Given the description of an element on the screen output the (x, y) to click on. 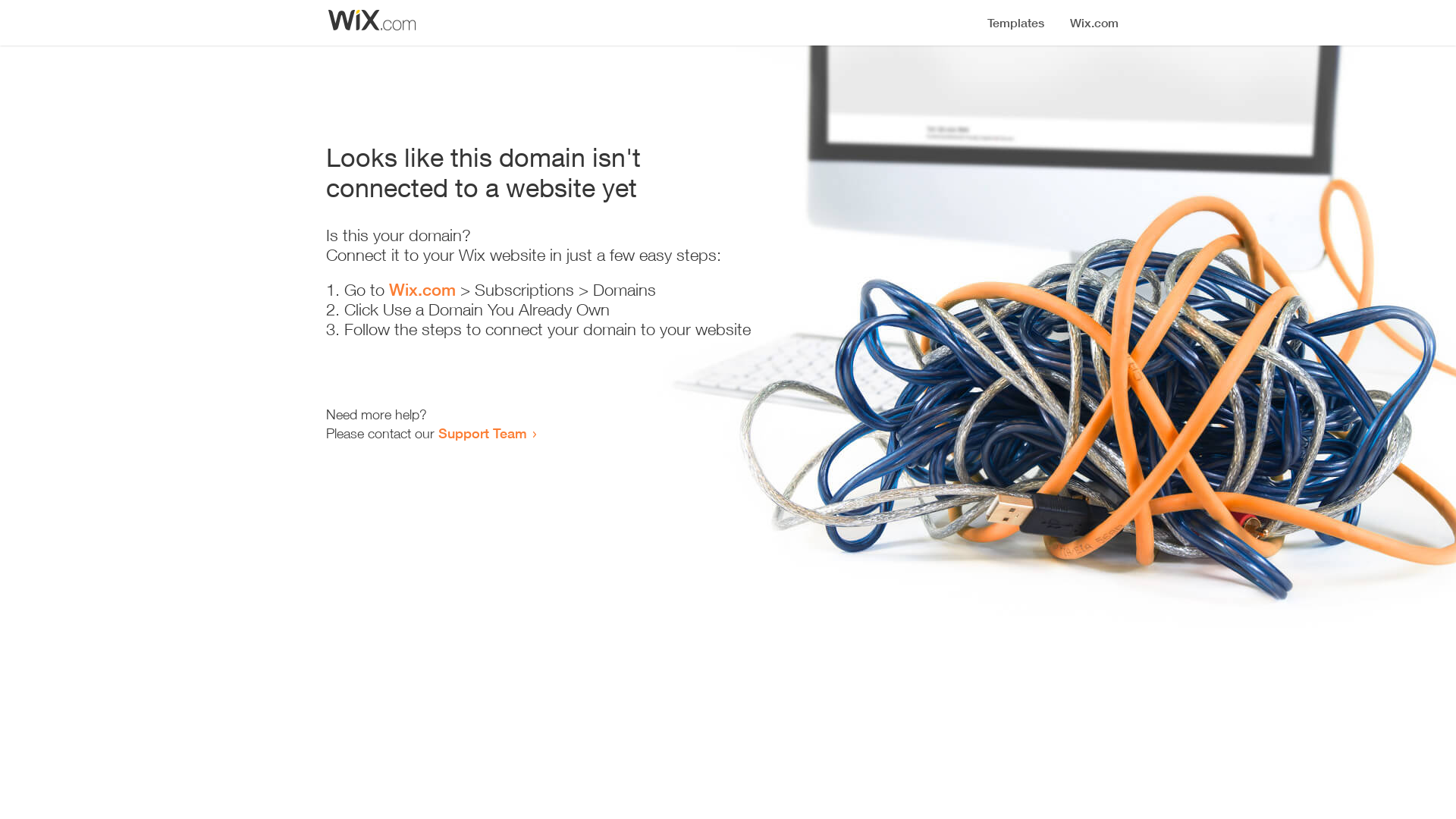
Support Team Element type: text (482, 432)
Wix.com Element type: text (422, 289)
